Given the description of an element on the screen output the (x, y) to click on. 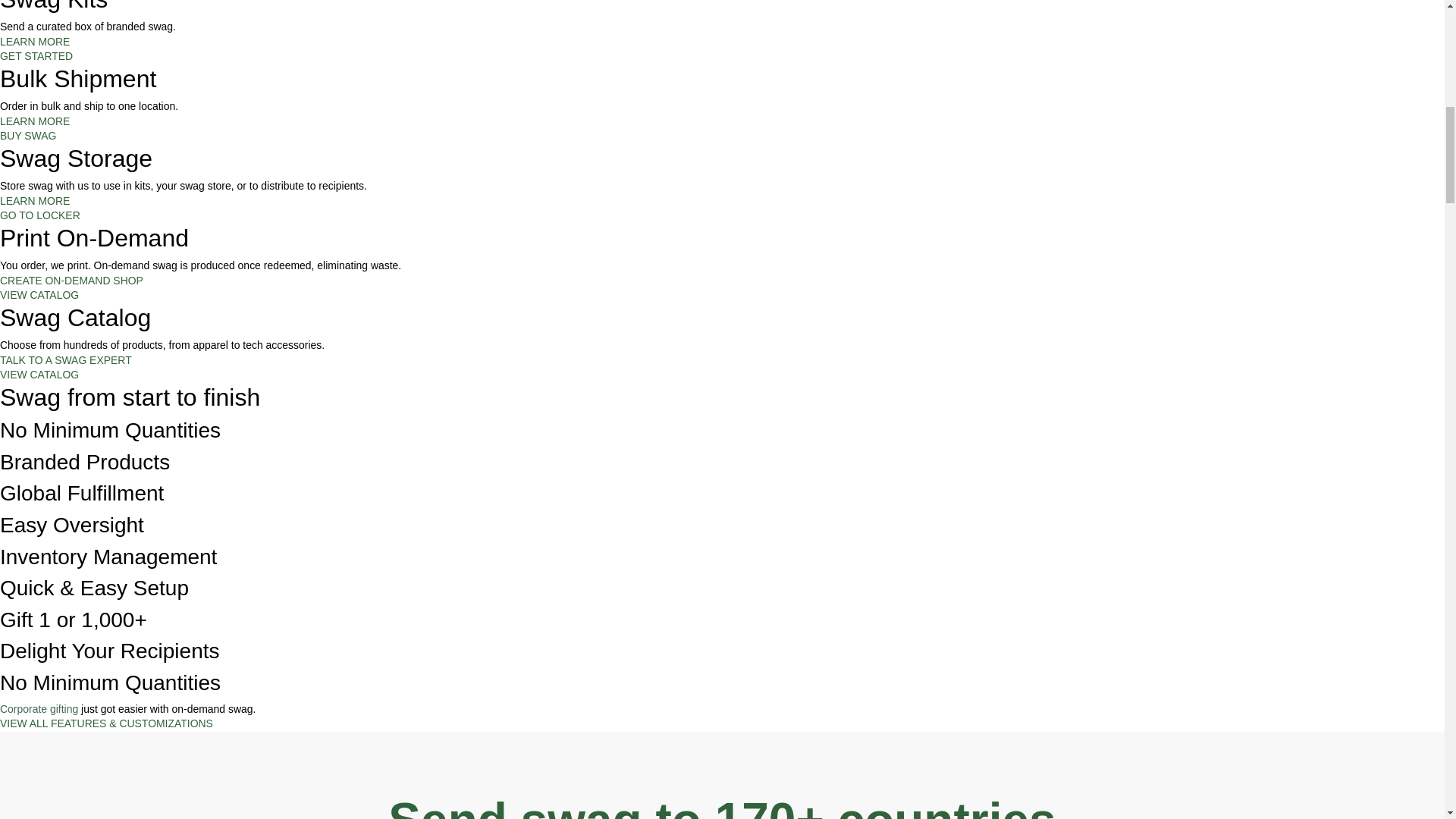
LEARN MORE (34, 41)
TALK TO A SWAG EXPERT (66, 359)
VIEW CATALOG (39, 295)
VIEW CATALOG (39, 374)
LEARN MORE (34, 200)
GET STARTED (36, 55)
GO TO LOCKER (40, 215)
LEARN MORE (34, 121)
CREATE ON-DEMAND SHOP (71, 280)
Corporate gifting (39, 707)
